Given the description of an element on the screen output the (x, y) to click on. 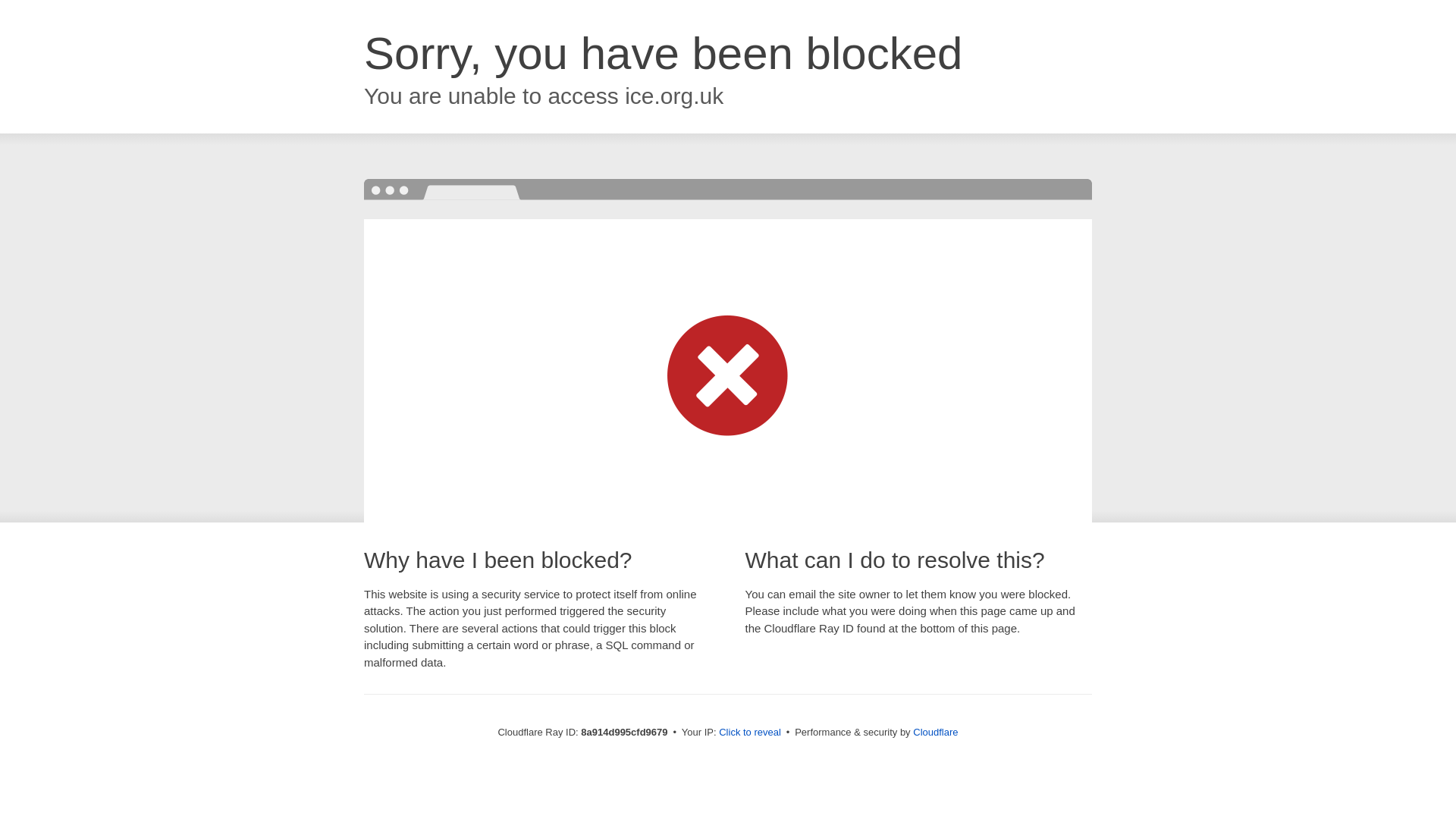
Cloudflare (935, 731)
Click to reveal (749, 732)
